Given the description of an element on the screen output the (x, y) to click on. 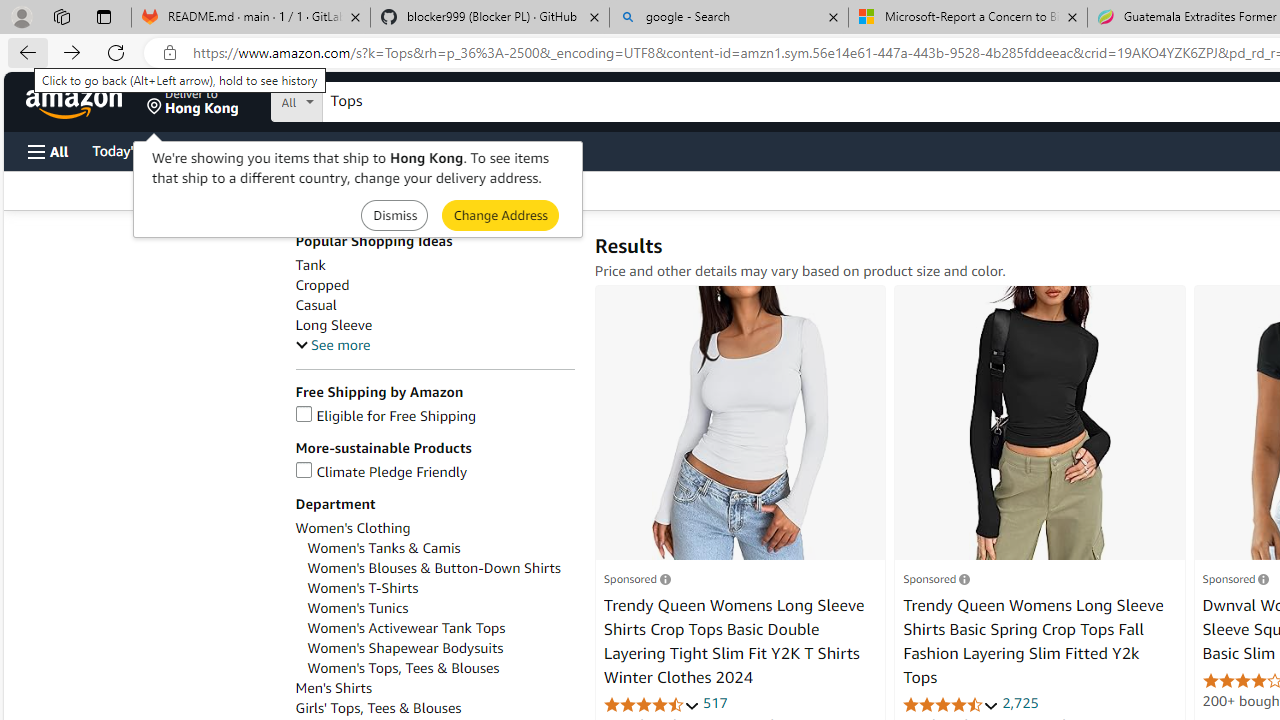
Climate Pledge Friendly (434, 471)
Casual (434, 304)
Women's Tops, Tees & Blouses (403, 668)
Women's Blouses & Button-Down Shirts (440, 568)
Women's Tunics (440, 608)
Women's Clothing (434, 528)
Women's Shapewear Bodysuits (405, 648)
4.4 out of 5 stars (950, 704)
